Given the description of an element on the screen output the (x, y) to click on. 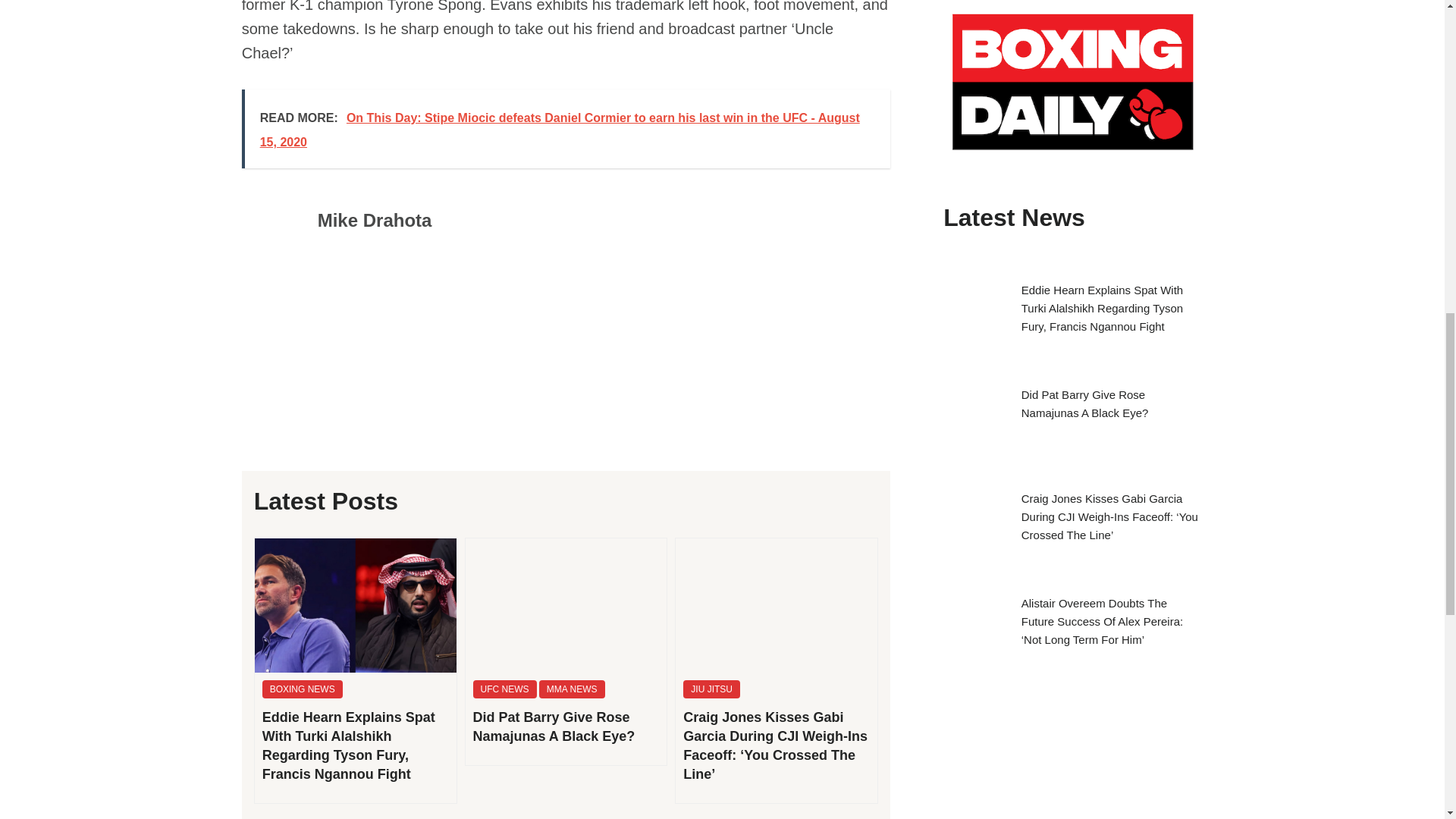
Did Pat Barry give Rose Namajunas a Black Eye? 2 (565, 605)
Posts by Mike Drahota (374, 219)
